Given the description of an element on the screen output the (x, y) to click on. 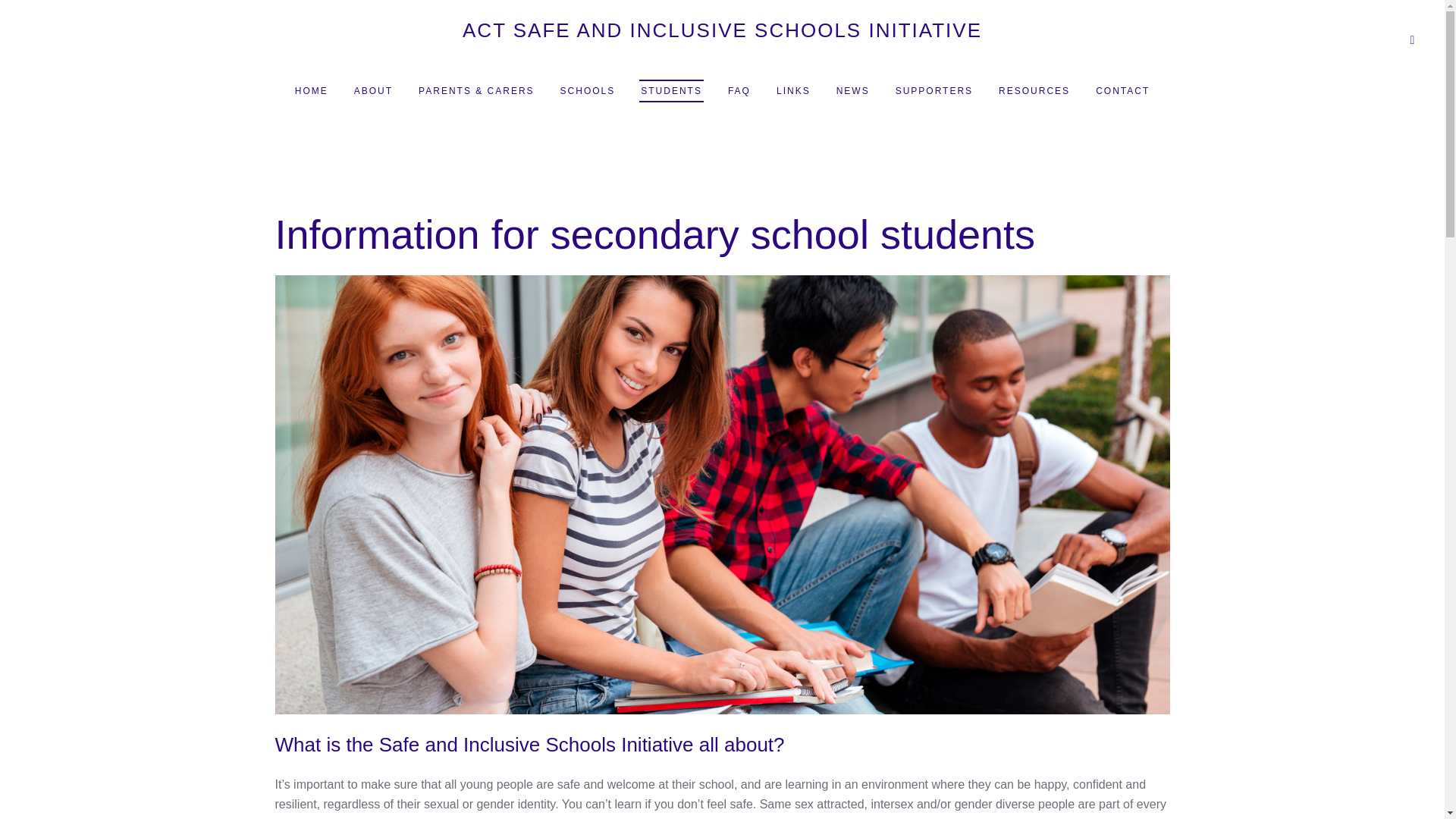
ACT SAFE AND INCLUSIVE SCHOOLS INITIATIVE (722, 39)
SCHOOLS (588, 90)
RESOURCES (1034, 90)
STUDENTS (671, 90)
CONTACT (1122, 90)
FAQ (739, 90)
ABOUT (373, 90)
LINKS (793, 90)
HOME (312, 90)
NEWS (852, 90)
